Given the description of an element on the screen output the (x, y) to click on. 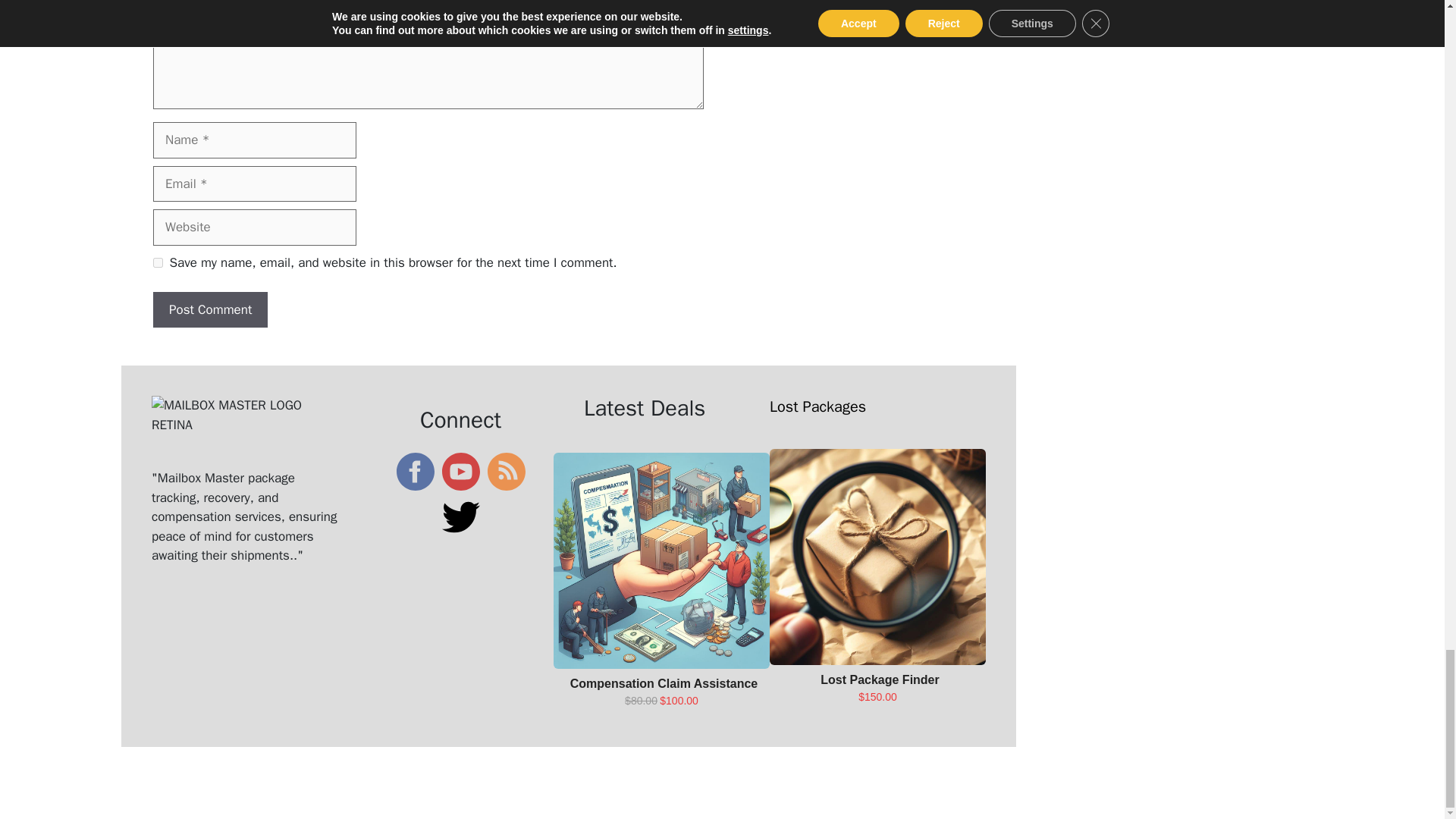
Post Comment (209, 309)
Post Comment (209, 309)
Compensation Claim Assistance (663, 683)
yes (157, 262)
